Given the description of an element on the screen output the (x, y) to click on. 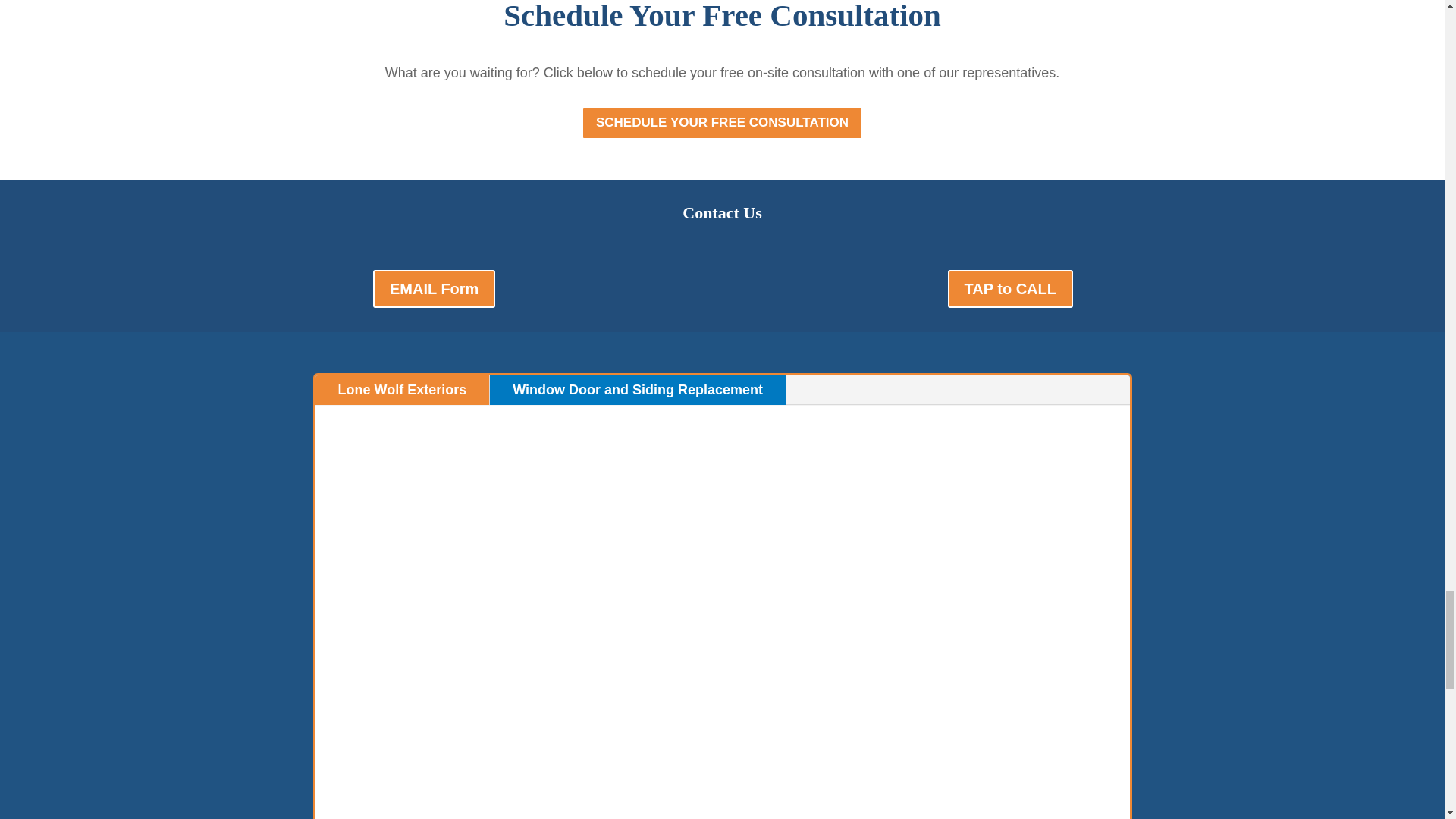
SCHEDULE YOUR FREE CONSULTATION (721, 123)
